Given the description of an element on the screen output the (x, y) to click on. 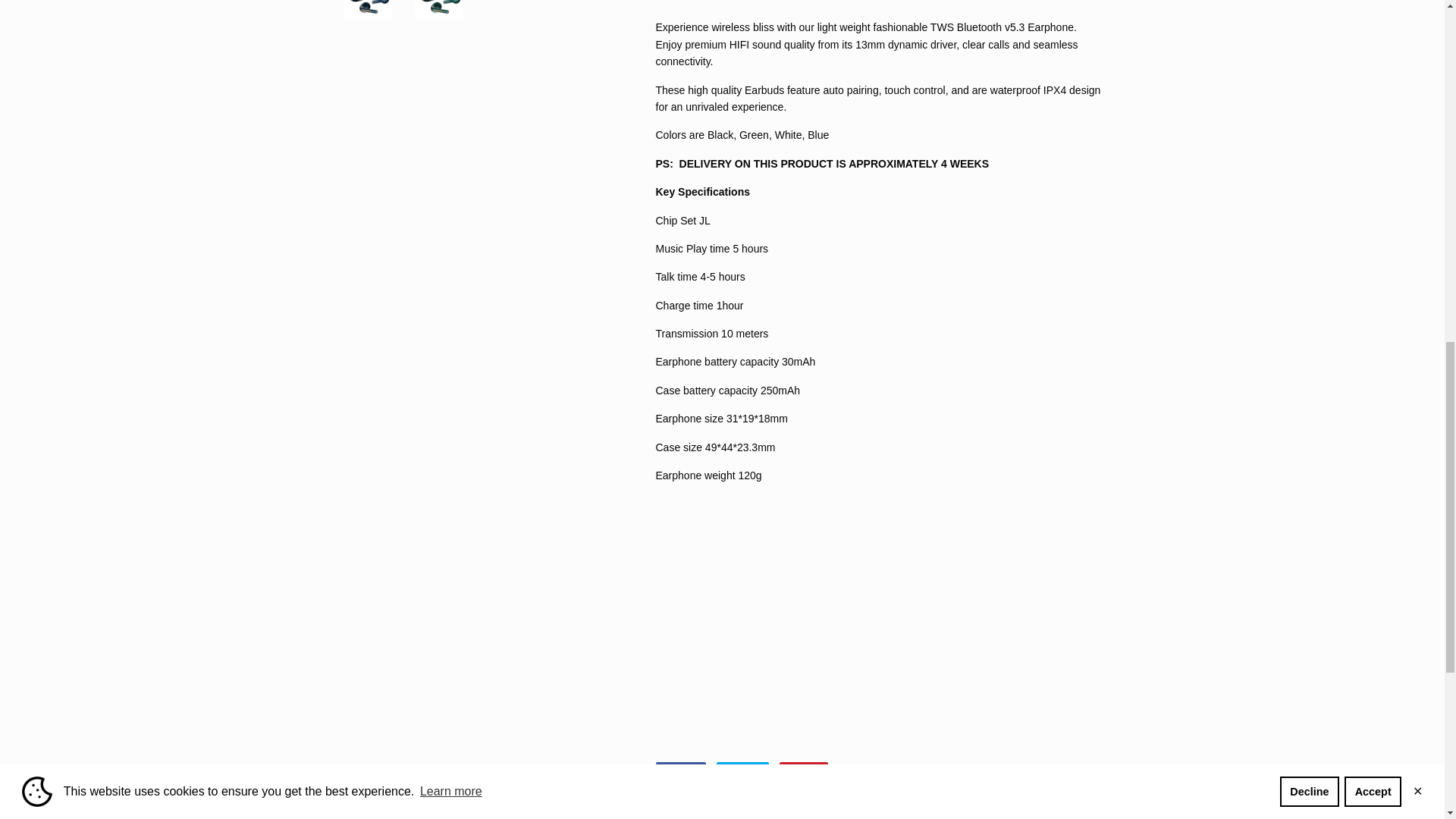
Tweet on Twitter (742, 770)
Share on Facebook (679, 770)
Pin on Pinterest (803, 770)
